Given the description of an element on the screen output the (x, y) to click on. 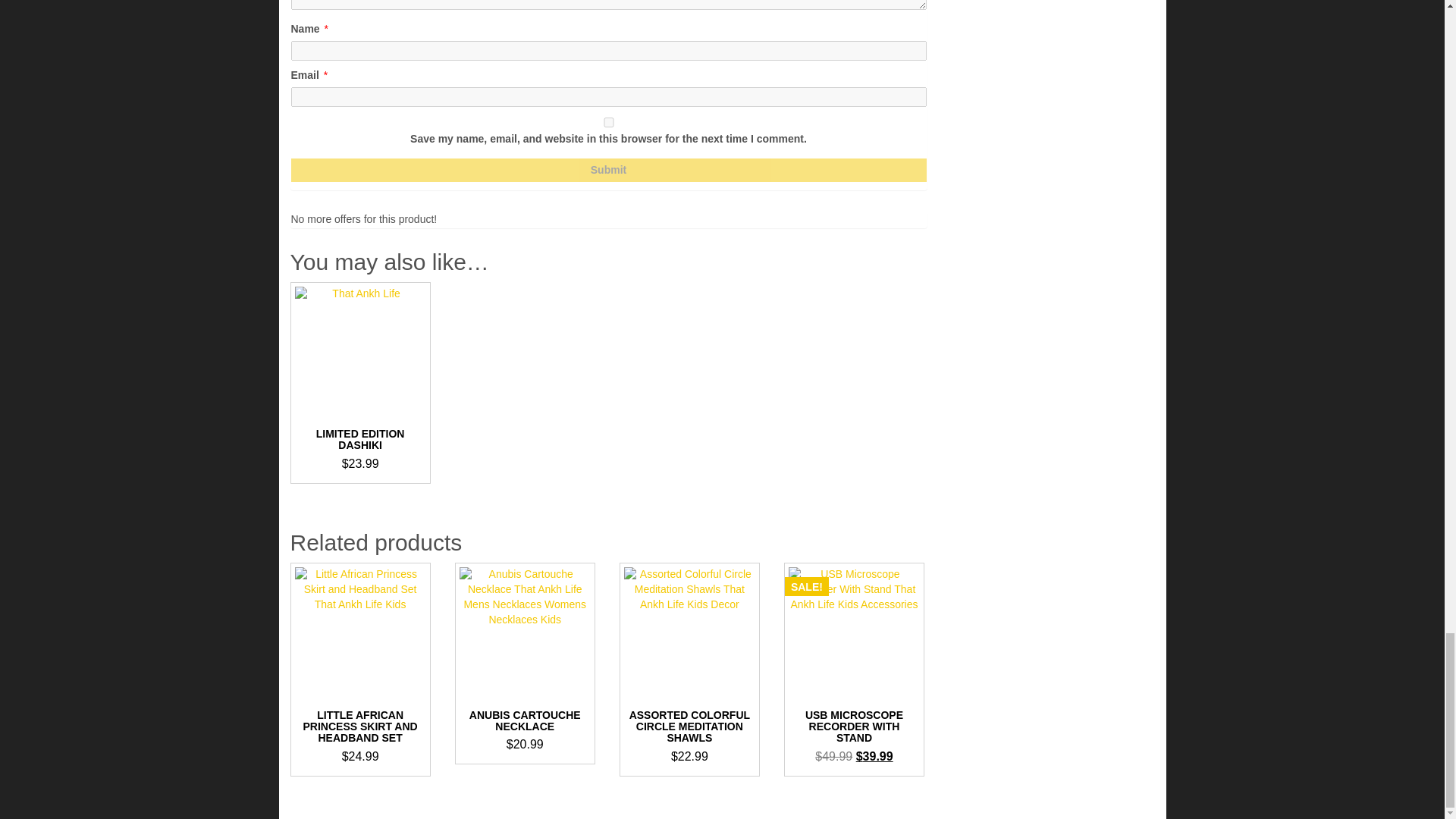
Submit (608, 169)
yes (608, 122)
